Given the description of an element on the screen output the (x, y) to click on. 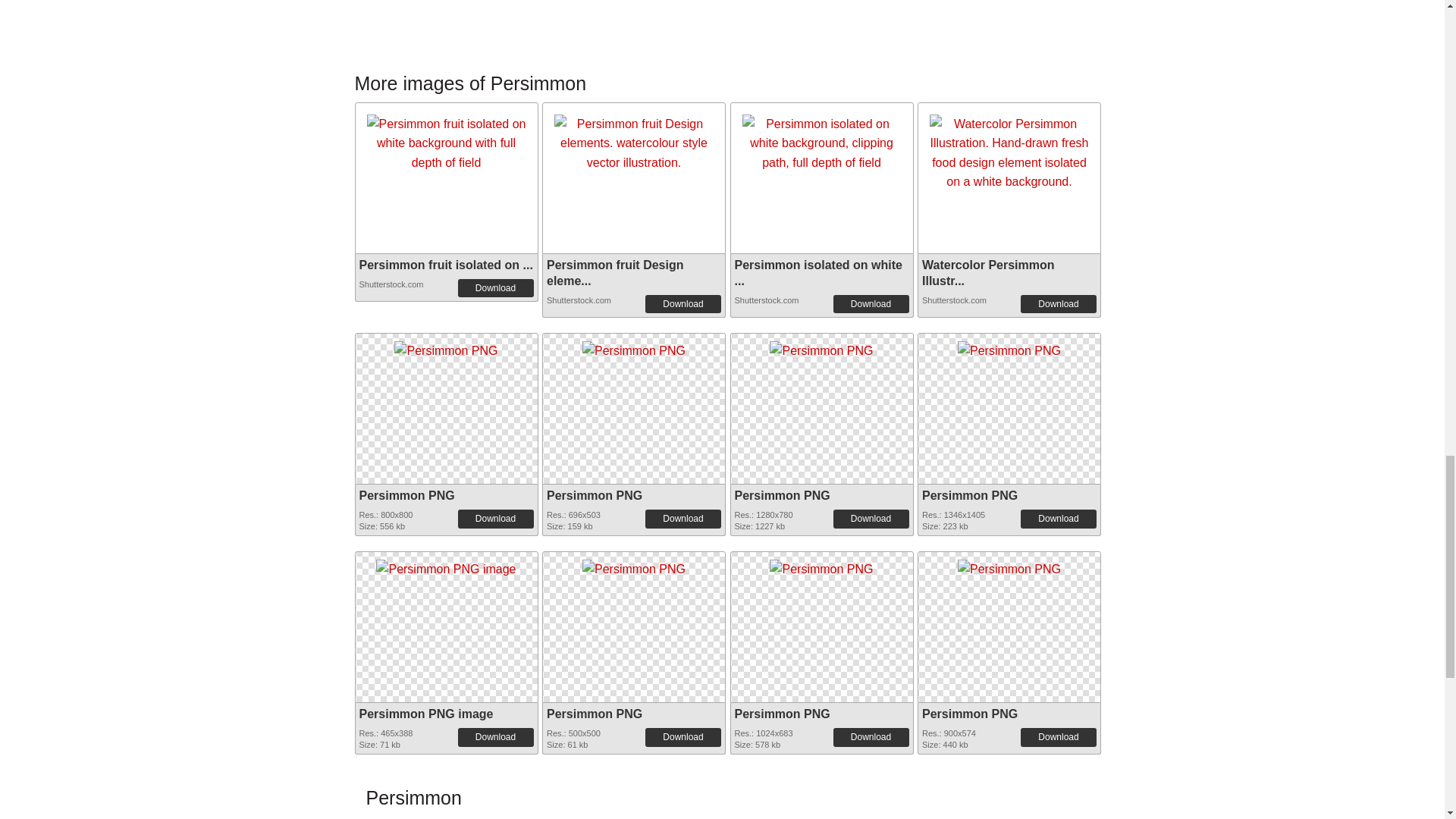
Persimmon PNG (633, 347)
Persimmon PNG (445, 345)
Persimmon fruit isolated on ... (445, 264)
Persimmon PNG (445, 347)
Download (1058, 518)
Persimmon PNG (1009, 345)
Persimmon PNG image (445, 563)
Download (682, 518)
Download (496, 518)
Persimmon PNG (781, 495)
Persimmon PNG (406, 495)
Persimmon PNG (821, 345)
Persimmon PNG (594, 495)
